Given the description of an element on the screen output the (x, y) to click on. 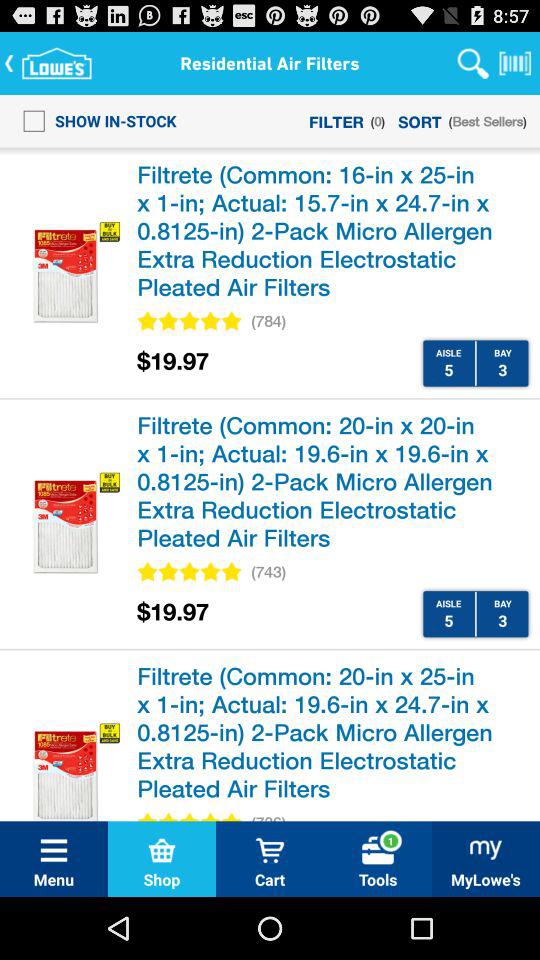
choose item next to filter (94, 120)
